Given the description of an element on the screen output the (x, y) to click on. 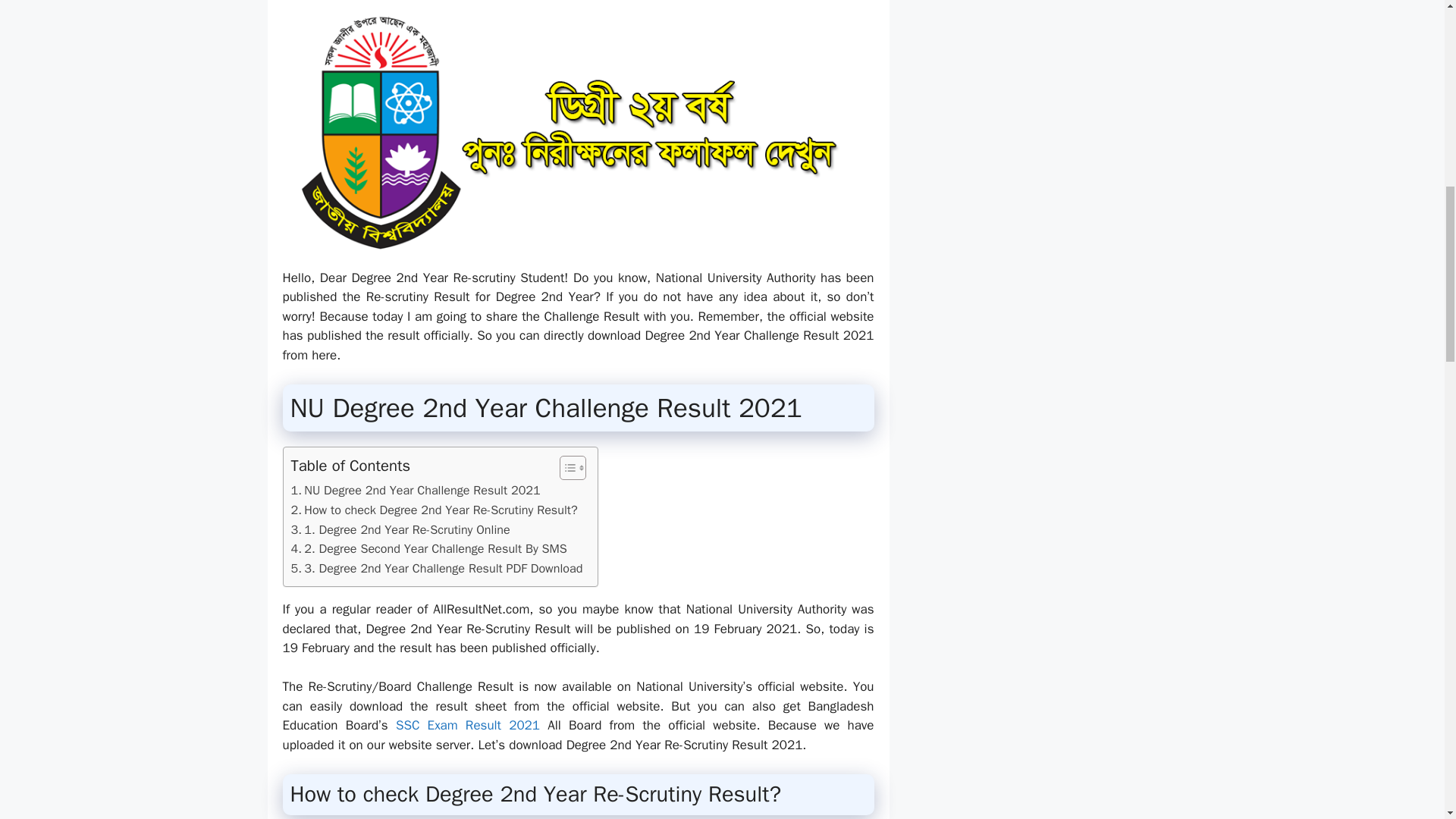
How to check Degree 2nd Year Re-Scrutiny Result? (434, 510)
NU Degree 2nd Year Challenge Result 2021 (415, 490)
SSC Exam Result 2021 (468, 725)
3. Degree 2nd Year Challenge Result PDF Download (437, 568)
2. Degree Second Year Challenge Result By SMS (429, 548)
NU Degree 2nd Year Challenge Result 2021 (415, 490)
1. Degree 2nd Year Re-Scrutiny Online (401, 529)
1. Degree 2nd Year Re-Scrutiny Online (401, 529)
How to check Degree 2nd Year Re-Scrutiny Result? (434, 510)
2. Degree Second Year Challenge Result By SMS (429, 548)
